Given the description of an element on the screen output the (x, y) to click on. 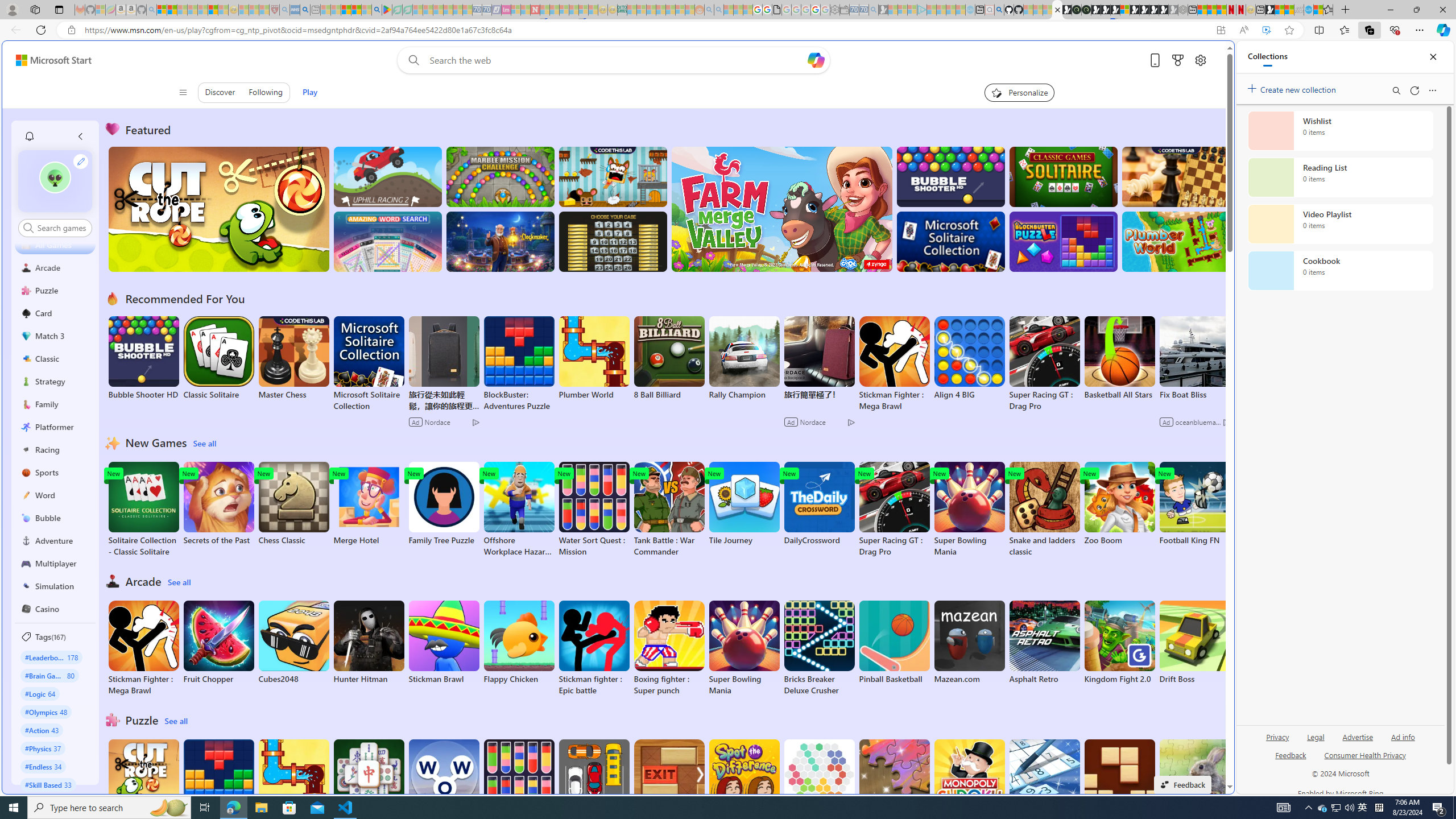
utah sues federal government - Search (922, 389)
#Endless 34 (43, 766)
Wishlist collection, 0 items (1339, 130)
Tabs you've opened (885, 151)
